Given the description of an element on the screen output the (x, y) to click on. 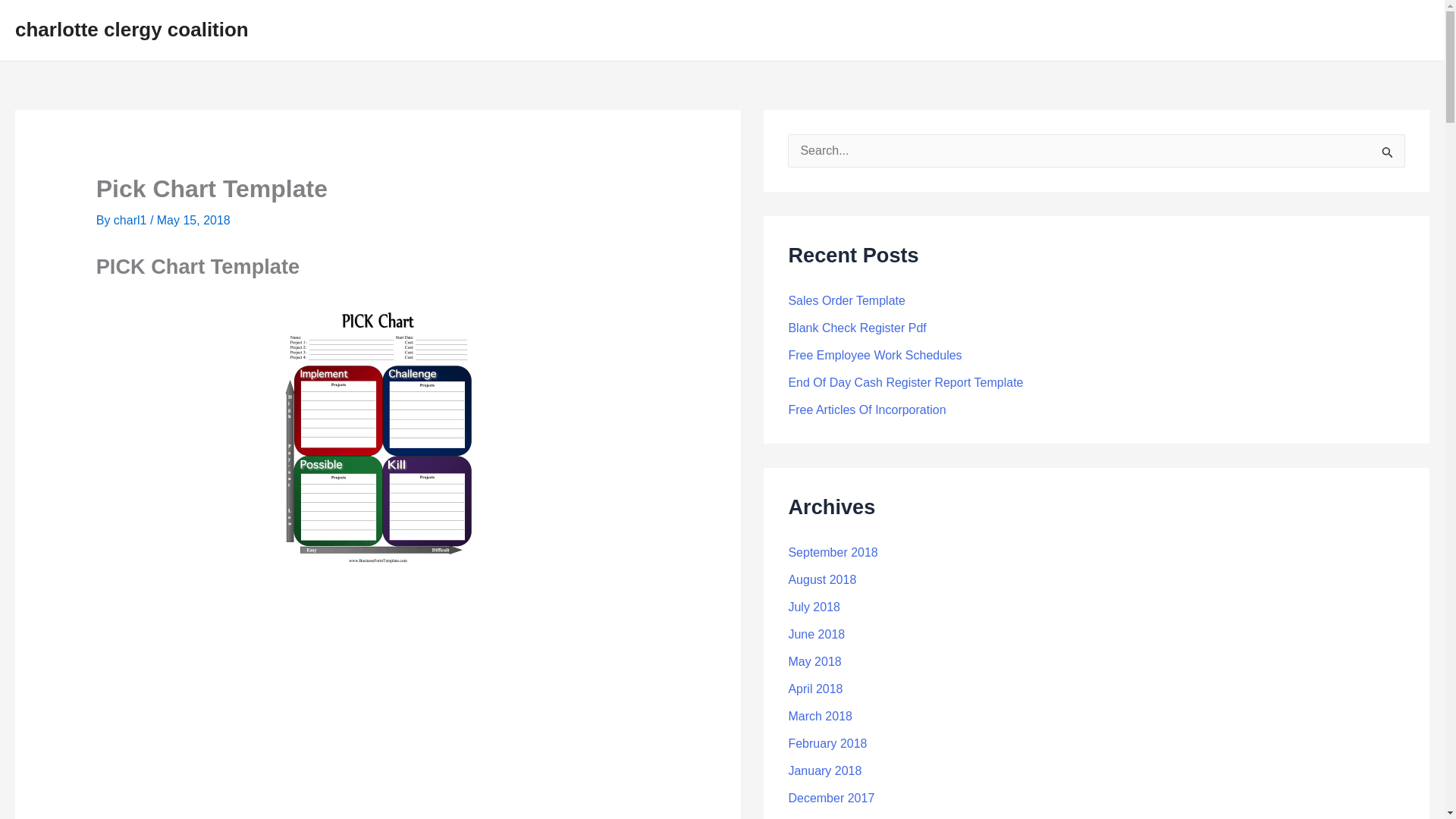
Blank Check Register Pdf (856, 327)
Free Employee Work Schedules (873, 354)
Free Articles Of Incorporation (865, 409)
December 2017 (831, 797)
February 2018 (826, 743)
March 2018 (819, 716)
Sales Order Template (845, 300)
View all posts by charl1 (131, 219)
charl1 (131, 219)
End Of Day Cash Register Report Template (905, 382)
